Given the description of an element on the screen output the (x, y) to click on. 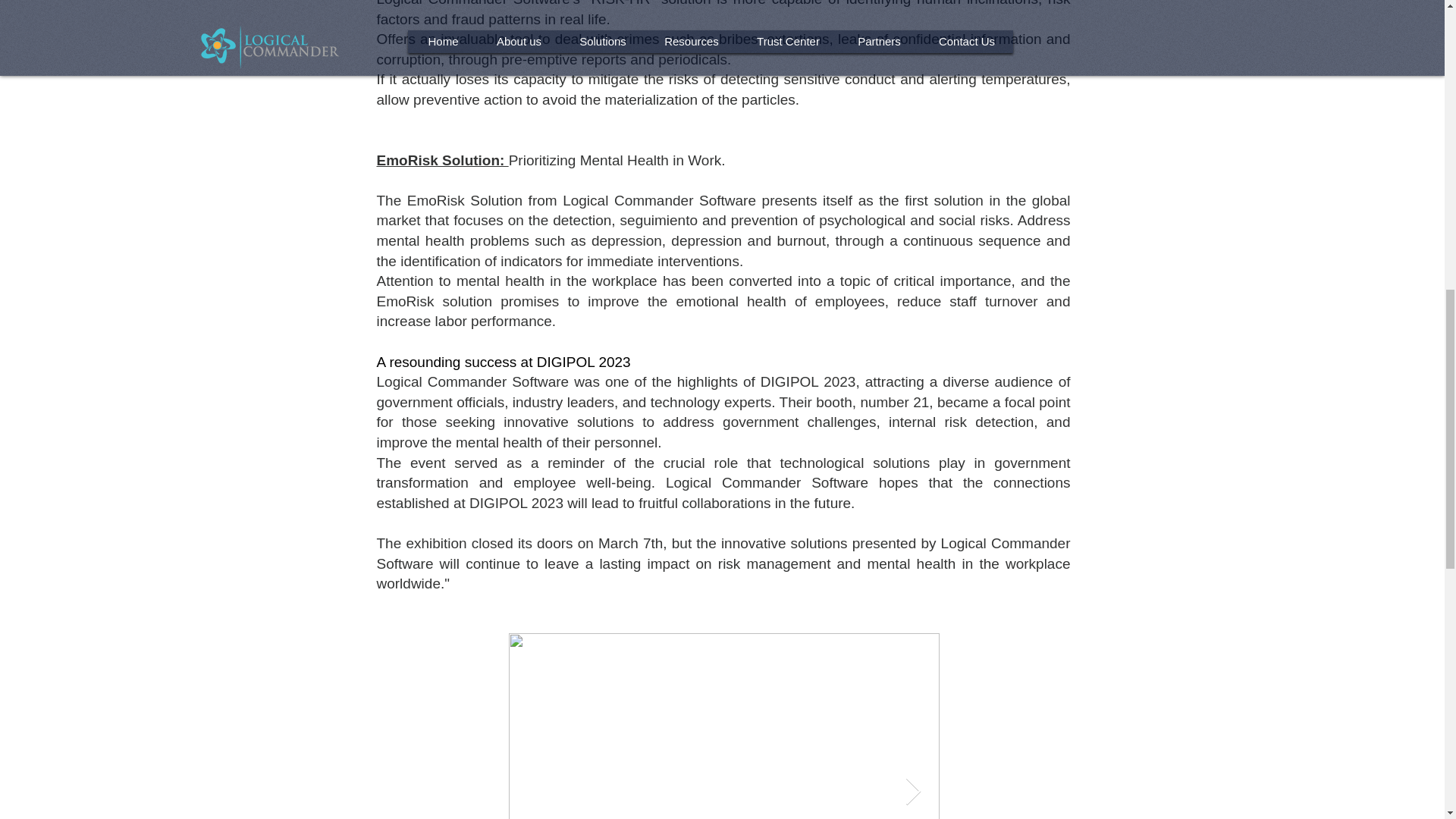
EmoRisk Solution:  (441, 160)
